Given the description of an element on the screen output the (x, y) to click on. 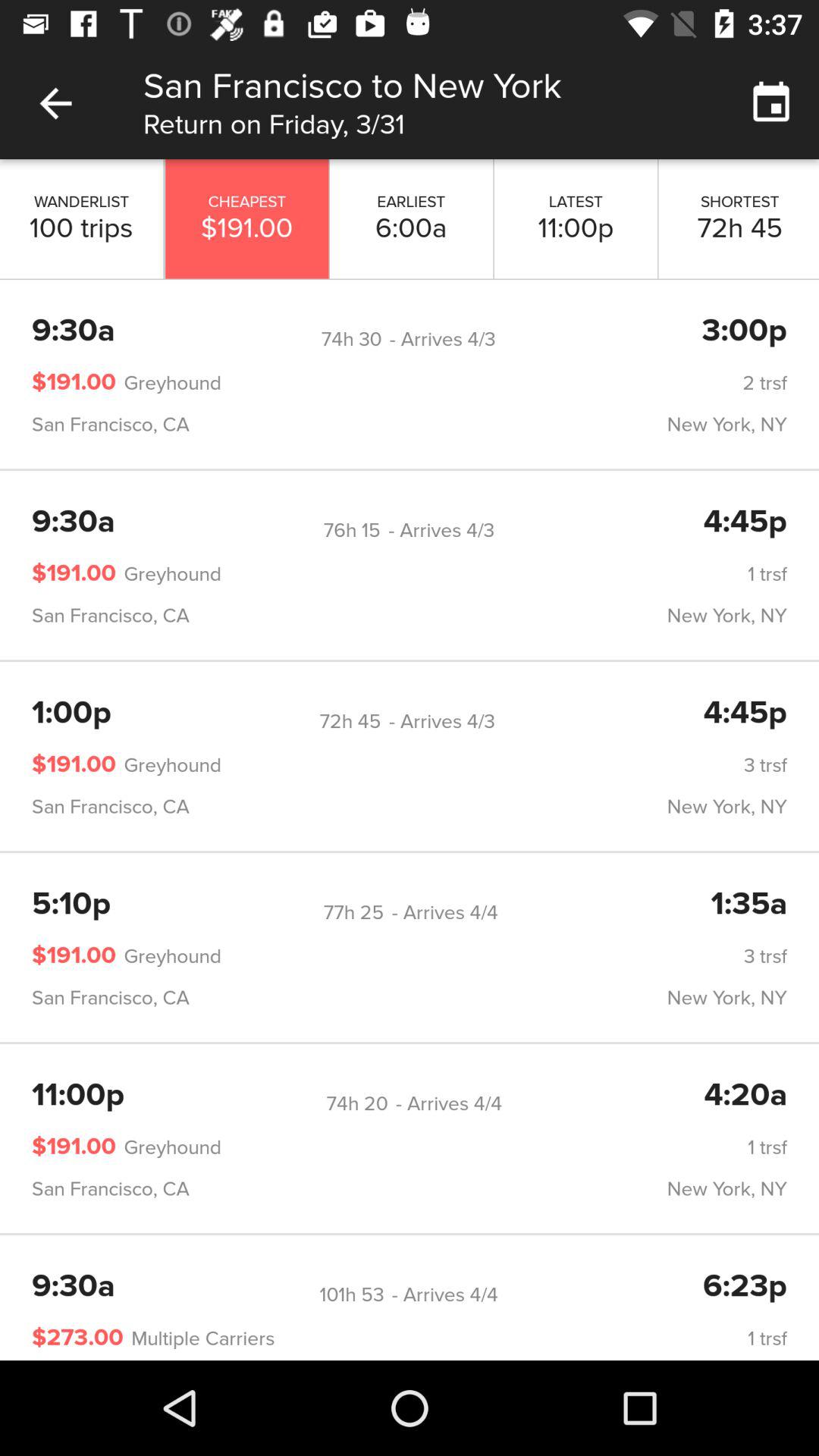
go back (55, 103)
